Given the description of an element on the screen output the (x, y) to click on. 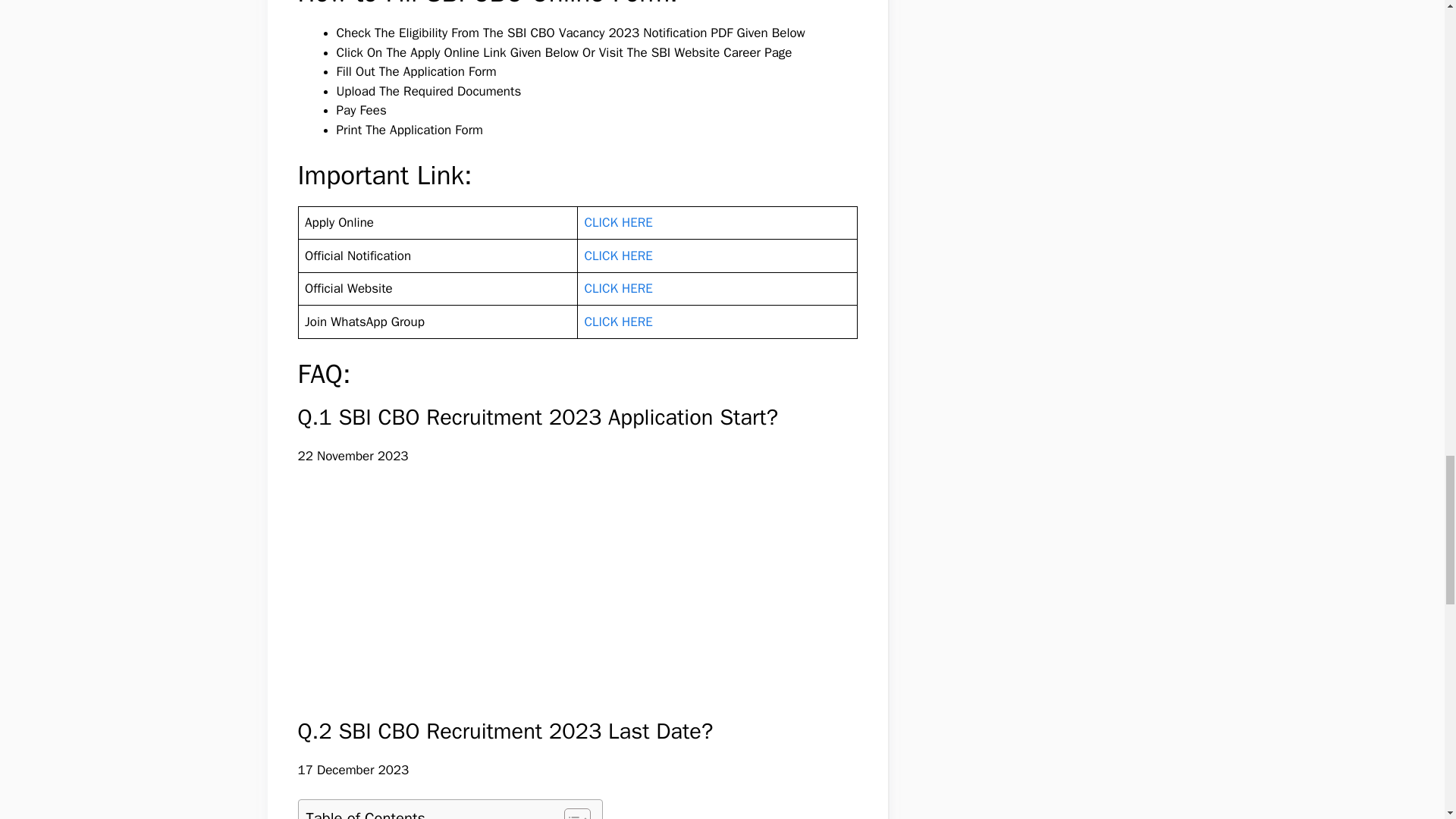
CLICK HERE (617, 321)
CLICK HERE (617, 288)
CLICK HERE (617, 222)
CLICK HERE (617, 255)
